Given the description of an element on the screen output the (x, y) to click on. 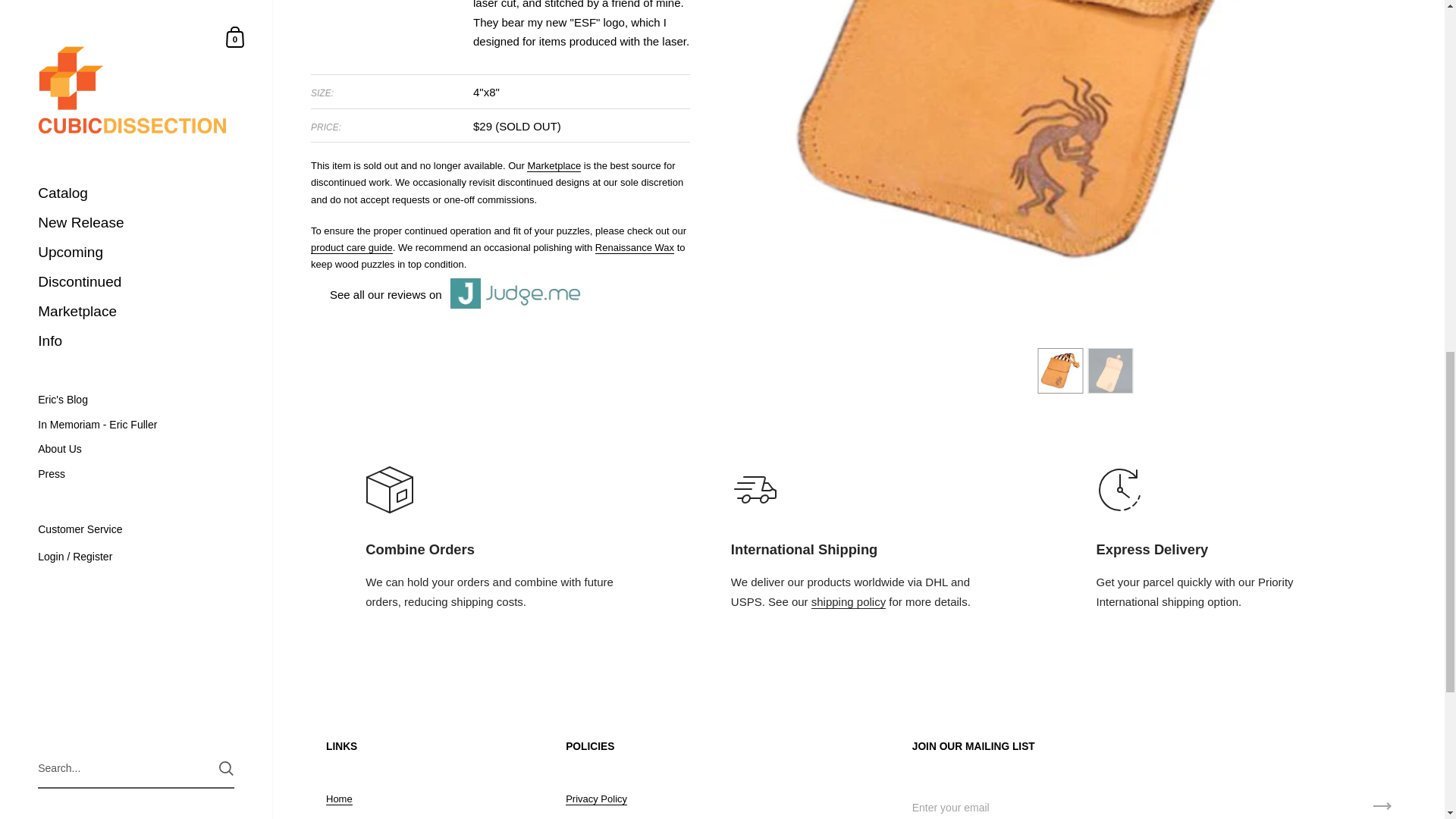
Shipping Policy (847, 602)
shipping policy (847, 602)
Renaissance Wax (634, 247)
Marketplace (553, 165)
See all our reviews on (448, 292)
product care guide (352, 247)
